Given the description of an element on the screen output the (x, y) to click on. 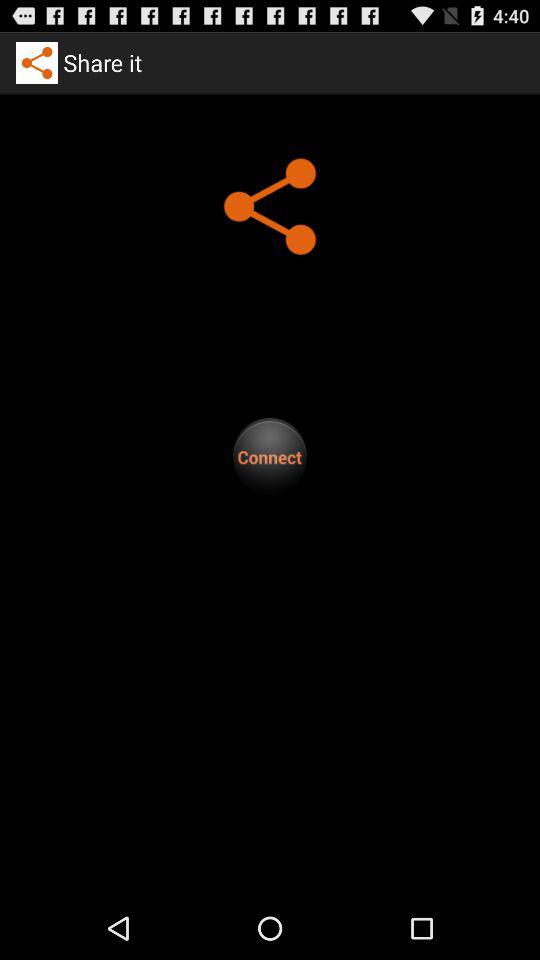
turn off item at the center (269, 456)
